Given the description of an element on the screen output the (x, y) to click on. 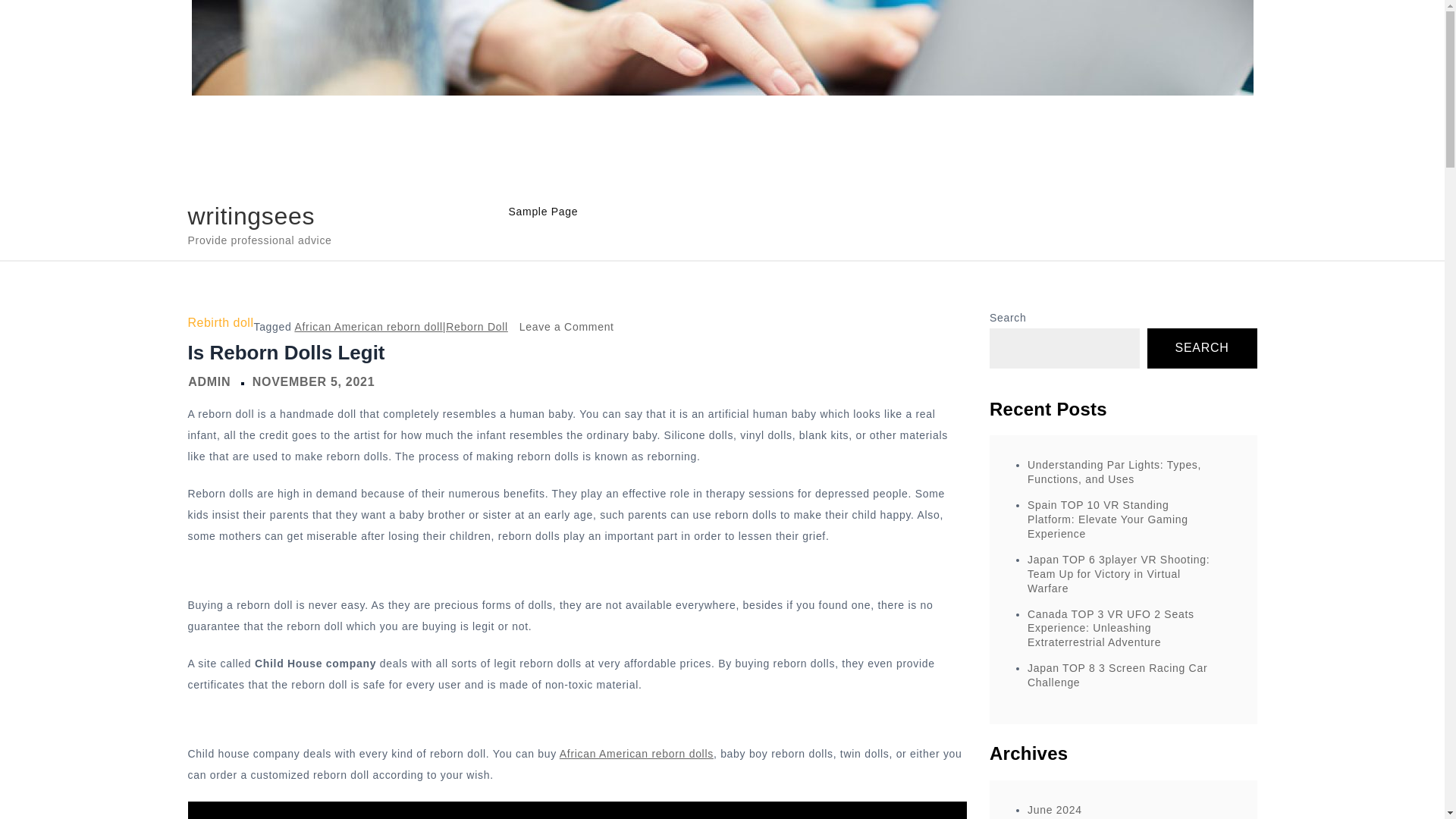
NOVEMBER 5, 2021 (312, 381)
Rebirth doll (220, 323)
SEARCH (566, 326)
writingsees (1202, 348)
African American reborn dolls (251, 216)
Japan TOP 8 3 Screen Racing Car Challenge (636, 753)
June 2024 (1117, 674)
ADMIN (1054, 809)
Understanding Par Lights: Types, Functions, and Uses (208, 381)
Sample Page (1114, 471)
